Given the description of an element on the screen output the (x, y) to click on. 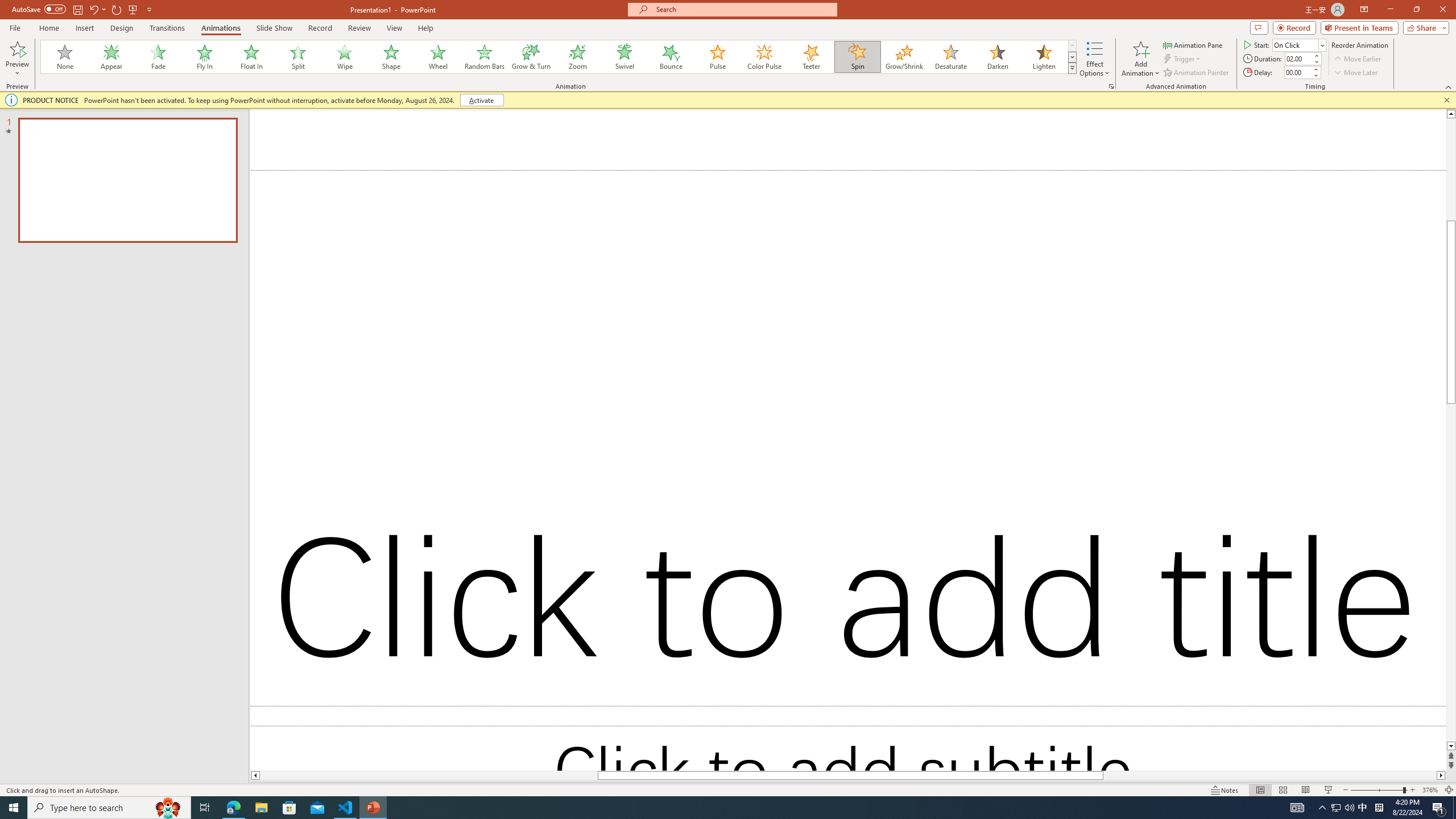
Darken (997, 56)
Lighten (1043, 56)
Teeter (810, 56)
Appear (111, 56)
Random Bars (484, 56)
Animation Styles (1071, 67)
Animation Delay (1297, 72)
Move Earlier (1357, 58)
Grow/Shrink (903, 56)
Fly In (205, 56)
